Given the description of an element on the screen output the (x, y) to click on. 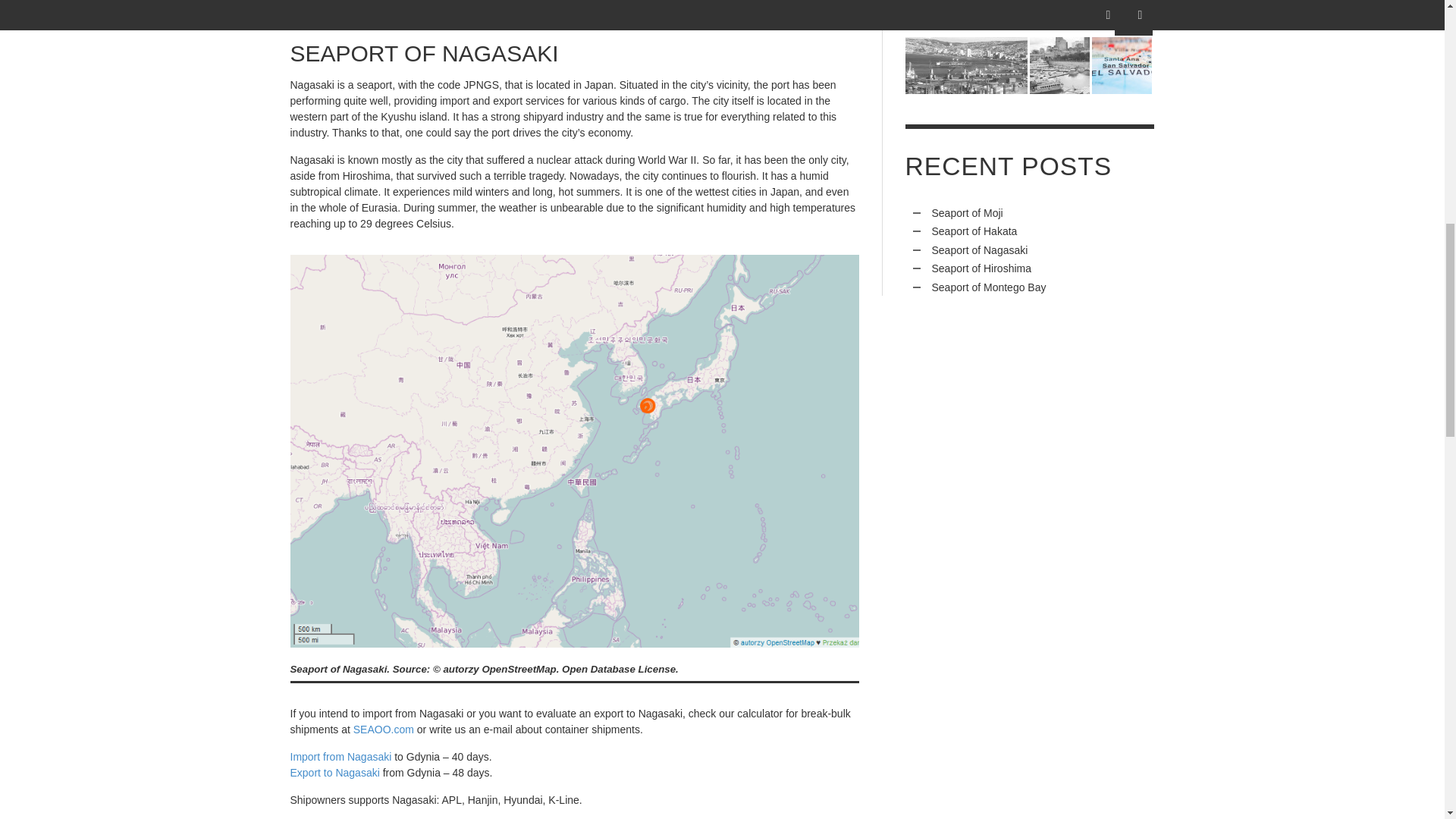
Seaport of Nagasaki (574, 9)
Import from Nagasaki (340, 756)
Seaport of Nagasaki (574, 450)
Export to Nagasaki (333, 772)
SEAOO.com (383, 729)
